Given the description of an element on the screen output the (x, y) to click on. 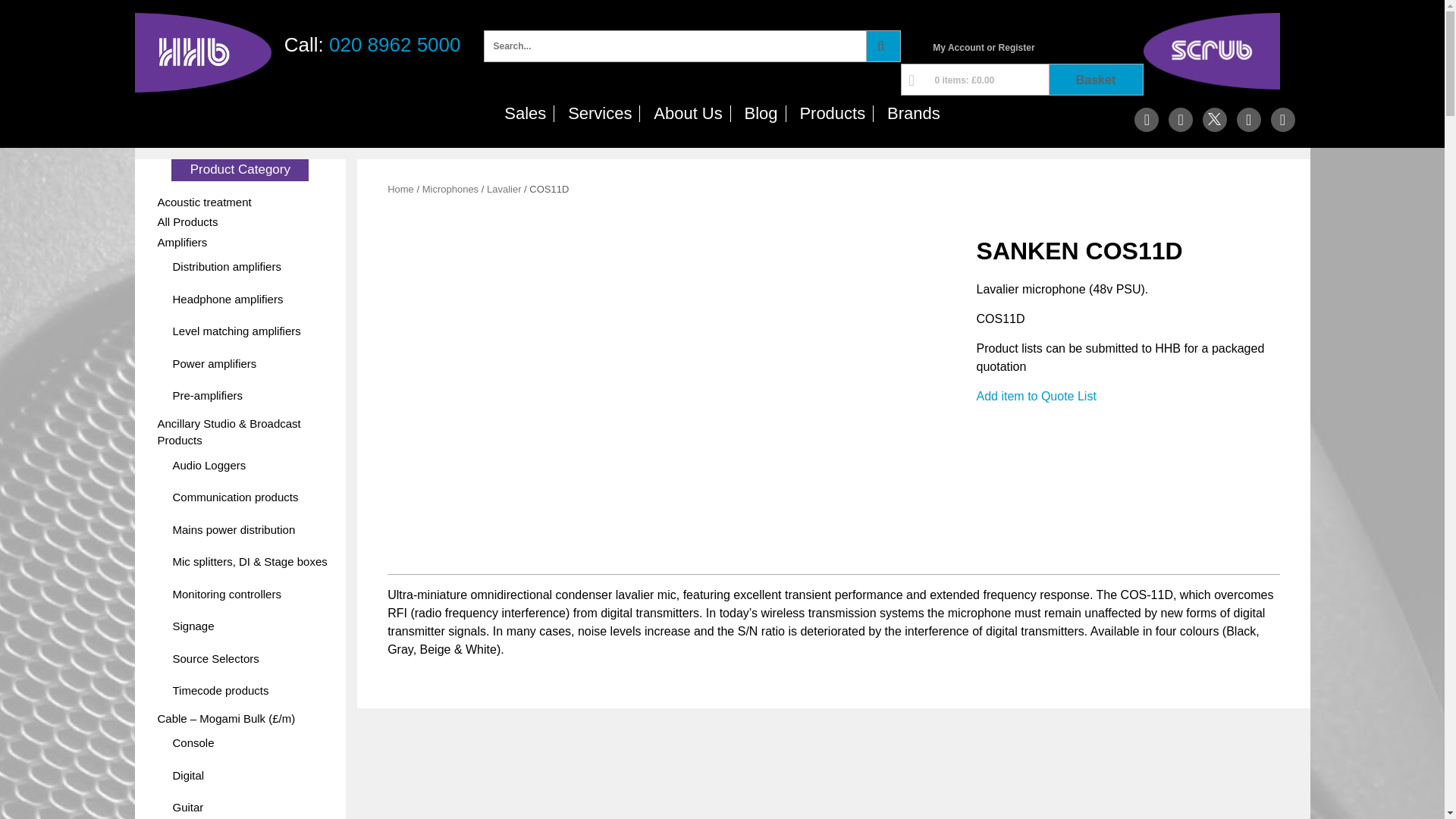
Search for: (674, 46)
020 8962 5000 (395, 44)
Search (883, 46)
About Us (688, 113)
Search (908, 15)
Sales (525, 113)
Basket (1095, 79)
Register (1016, 47)
Services (600, 113)
My Account (958, 47)
